Given the description of an element on the screen output the (x, y) to click on. 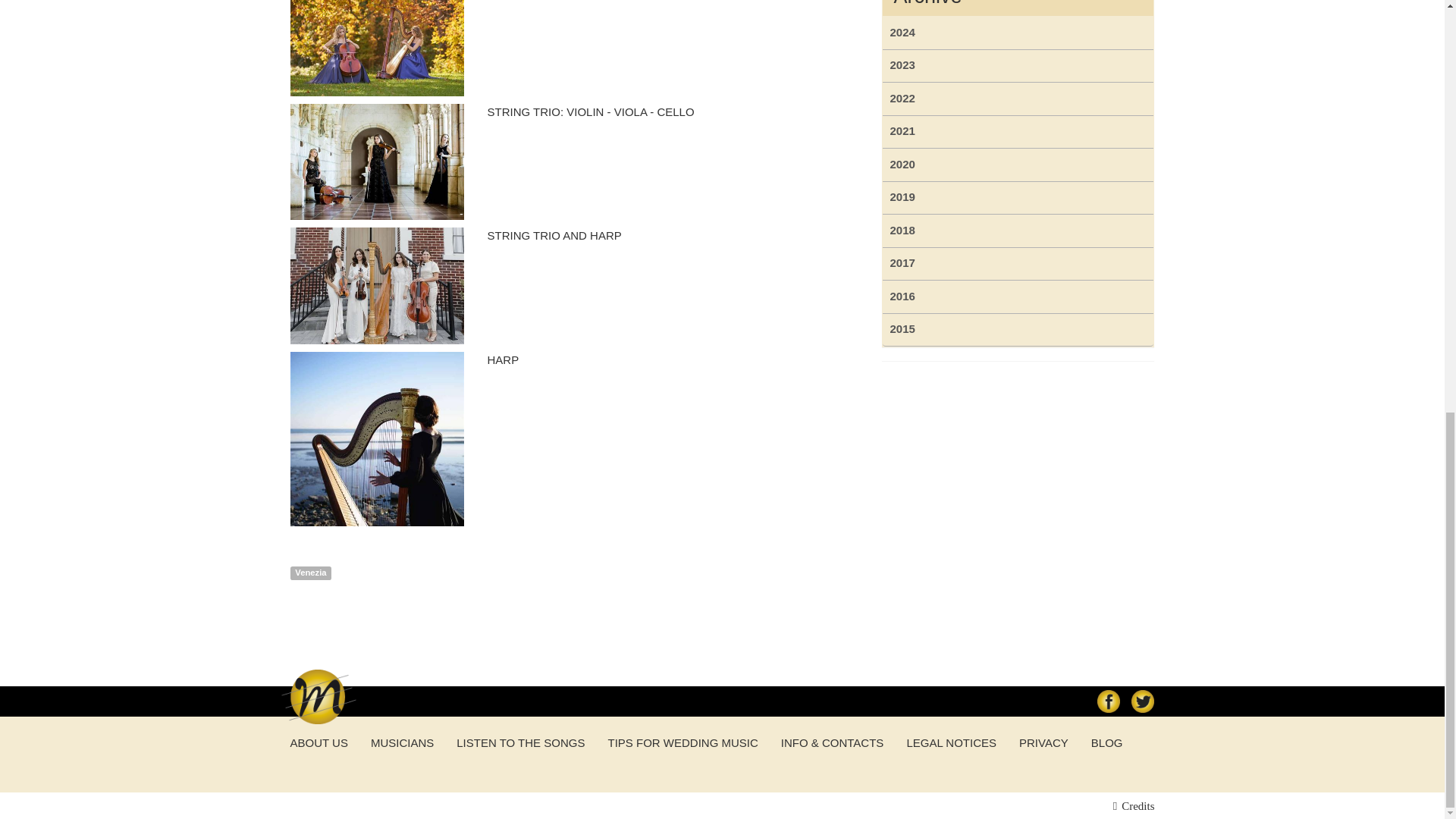
LISTEN TO THE SONGS (520, 742)
MUSICIANS (402, 742)
2018 (1018, 230)
2015 (1018, 329)
2020 (1018, 164)
2019 (1018, 197)
2016 (1018, 296)
Twitter (1142, 701)
2017 (1018, 264)
2022 (1018, 98)
